Given the description of an element on the screen output the (x, y) to click on. 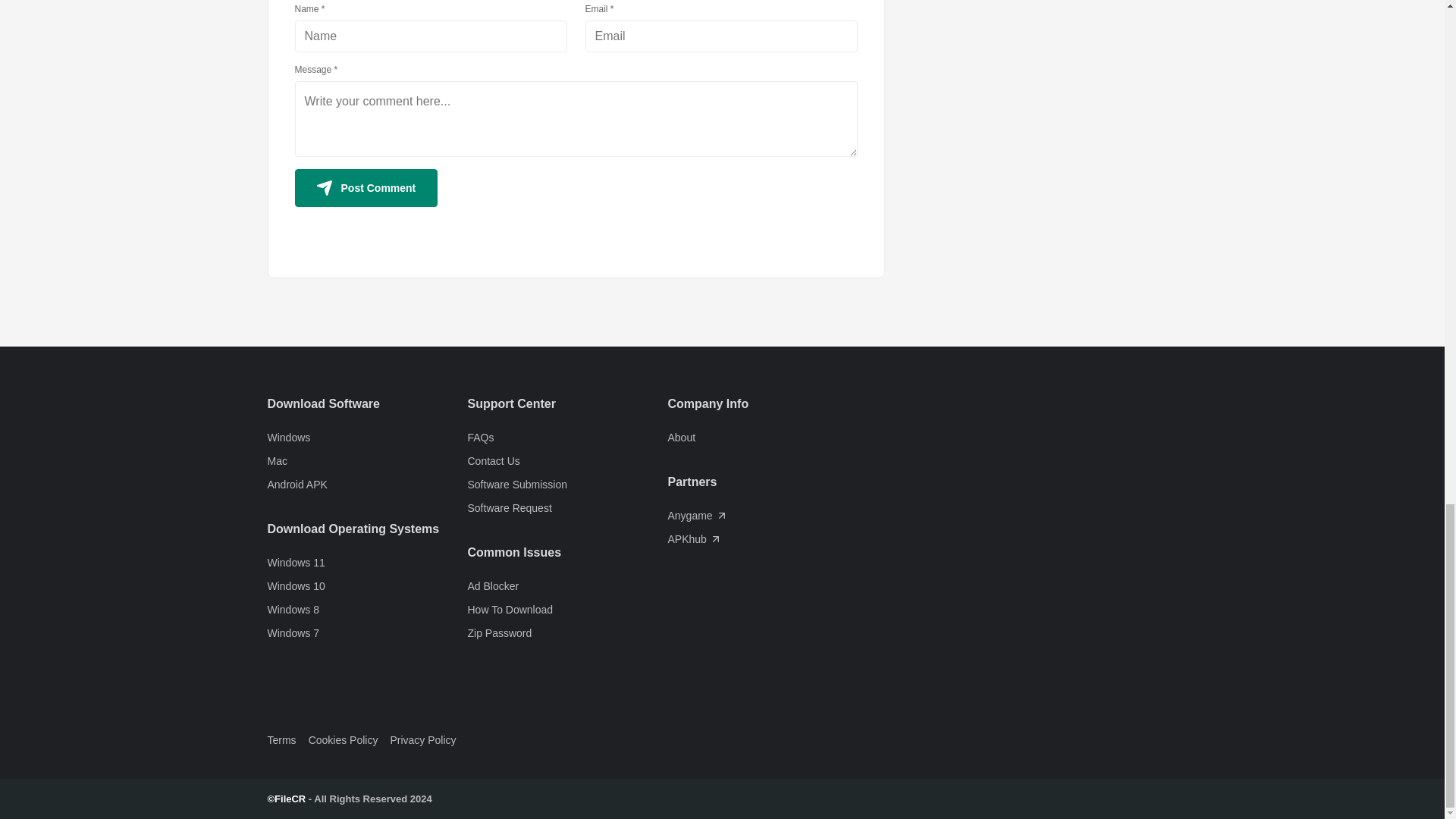
Mac (366, 461)
Windows (366, 437)
Windows 10 (366, 586)
Android APK (366, 484)
Post Comment (366, 187)
Windows 11 (366, 562)
